Given the description of an element on the screen output the (x, y) to click on. 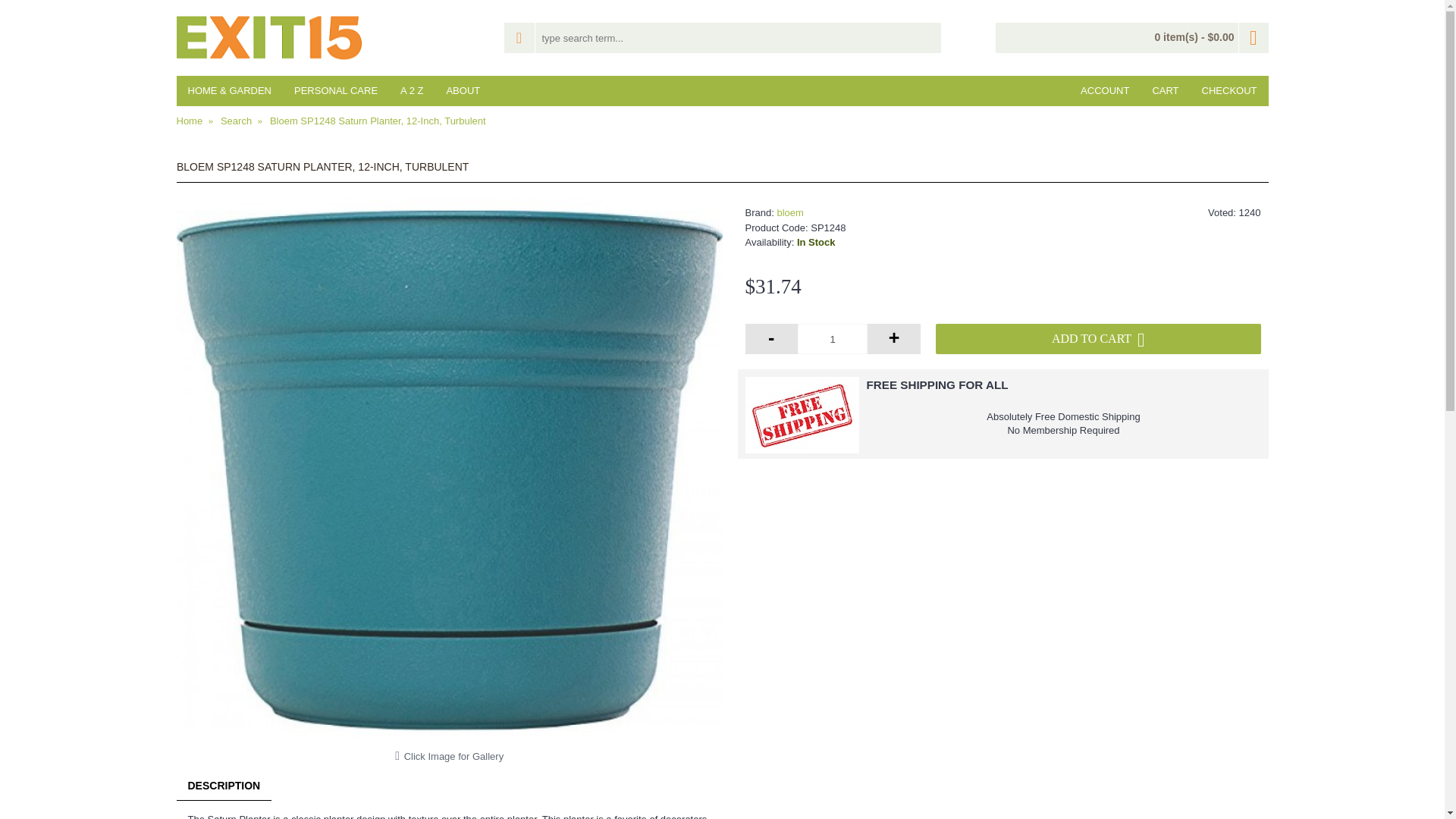
Exit 15 Corporation (268, 37)
1 (832, 338)
